Given the description of an element on the screen output the (x, y) to click on. 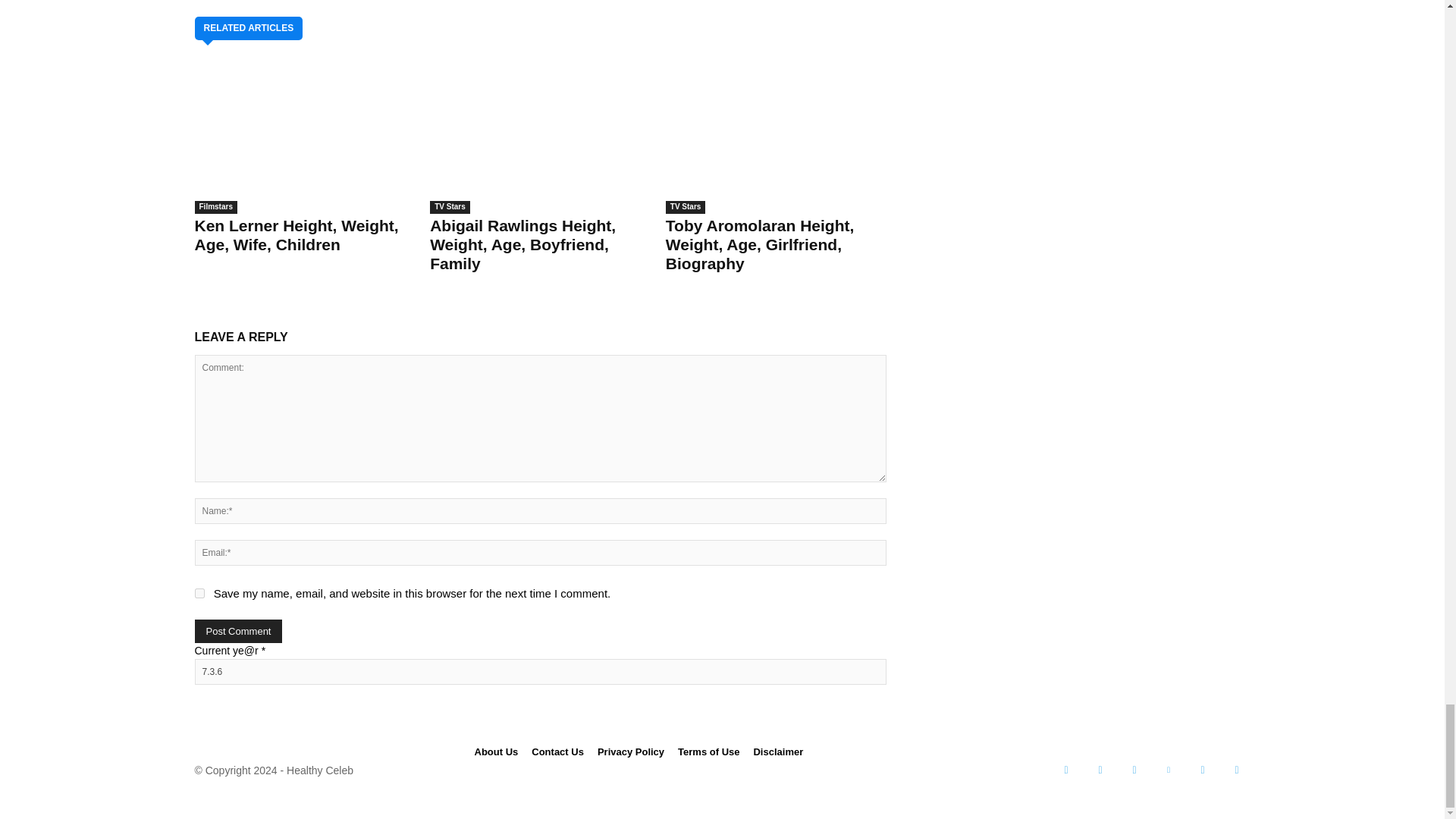
yes (198, 593)
7.3.6 (539, 671)
Post Comment (237, 630)
